Given the description of an element on the screen output the (x, y) to click on. 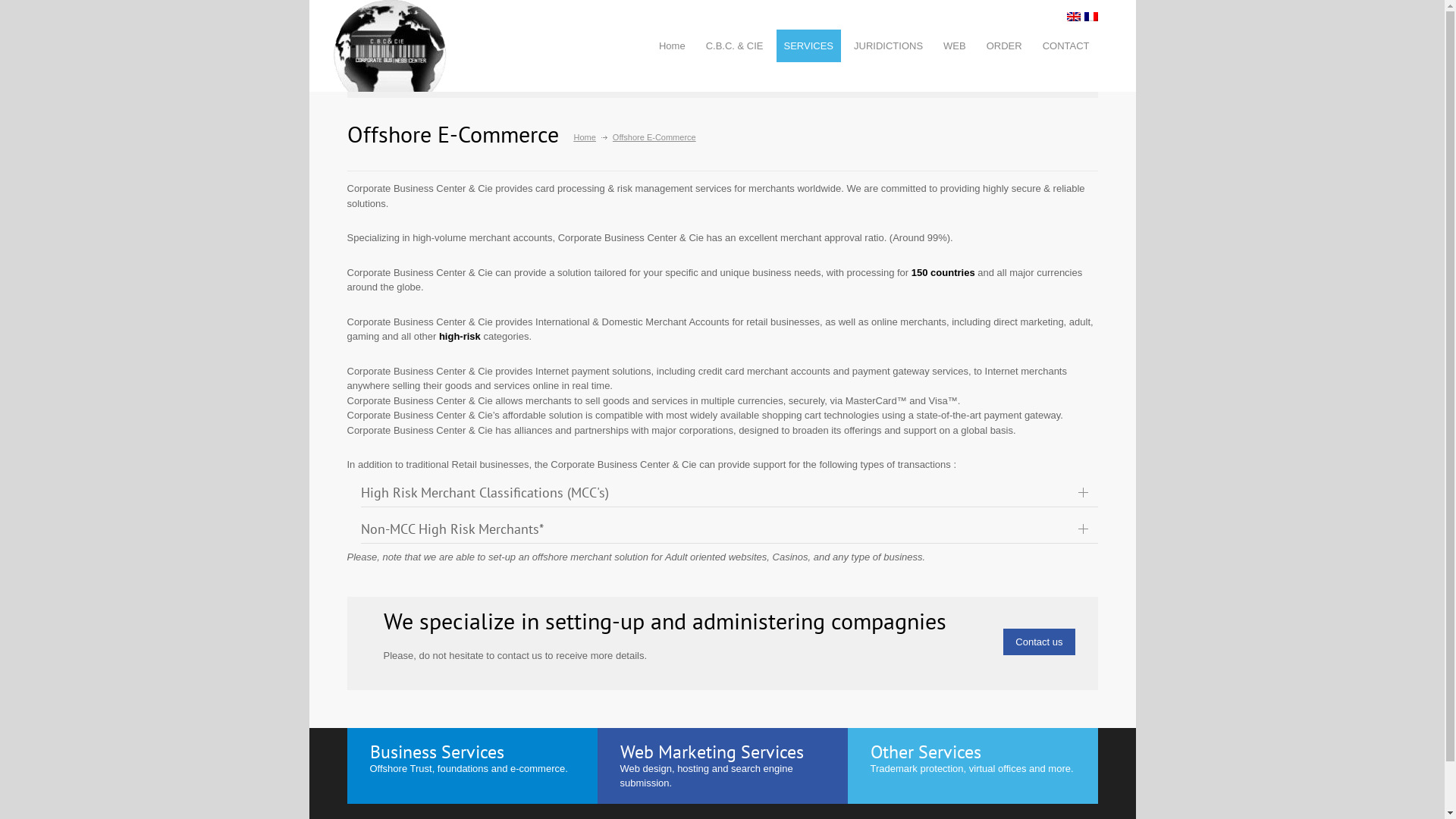
Home Element type: text (671, 45)
JURIDICTIONS Element type: text (888, 45)
Other Services Element type: text (932, 751)
Web Marketing Services Element type: text (718, 751)
CONTACT Element type: text (1066, 45)
SERVICES Element type: text (808, 45)
Home Element type: text (584, 136)
English Element type: hover (1072, 16)
Contact us Element type: text (1038, 641)
C.B.C. & CIE Element type: text (734, 45)
ORDER Element type: text (1004, 45)
Business Services Element type: text (443, 751)
WEB Element type: text (954, 45)
